Given the description of an element on the screen output the (x, y) to click on. 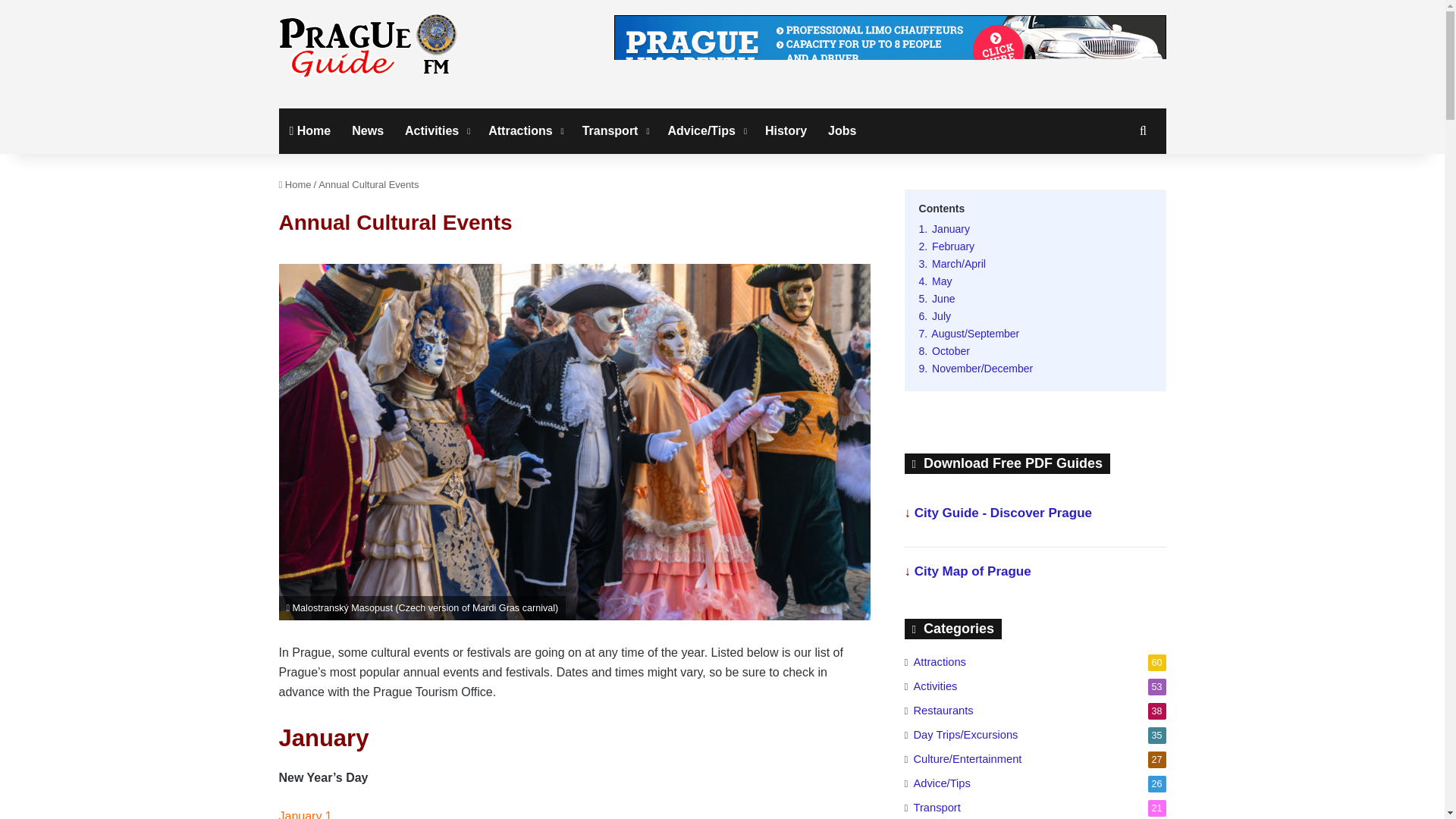
News (367, 130)
Search for (1142, 130)
Attractions (523, 130)
Activities (435, 130)
Home (310, 130)
Prahos turisto vadovas (368, 45)
Transport (615, 130)
History (785, 130)
Jobs (841, 130)
Home (295, 184)
